Given the description of an element on the screen output the (x, y) to click on. 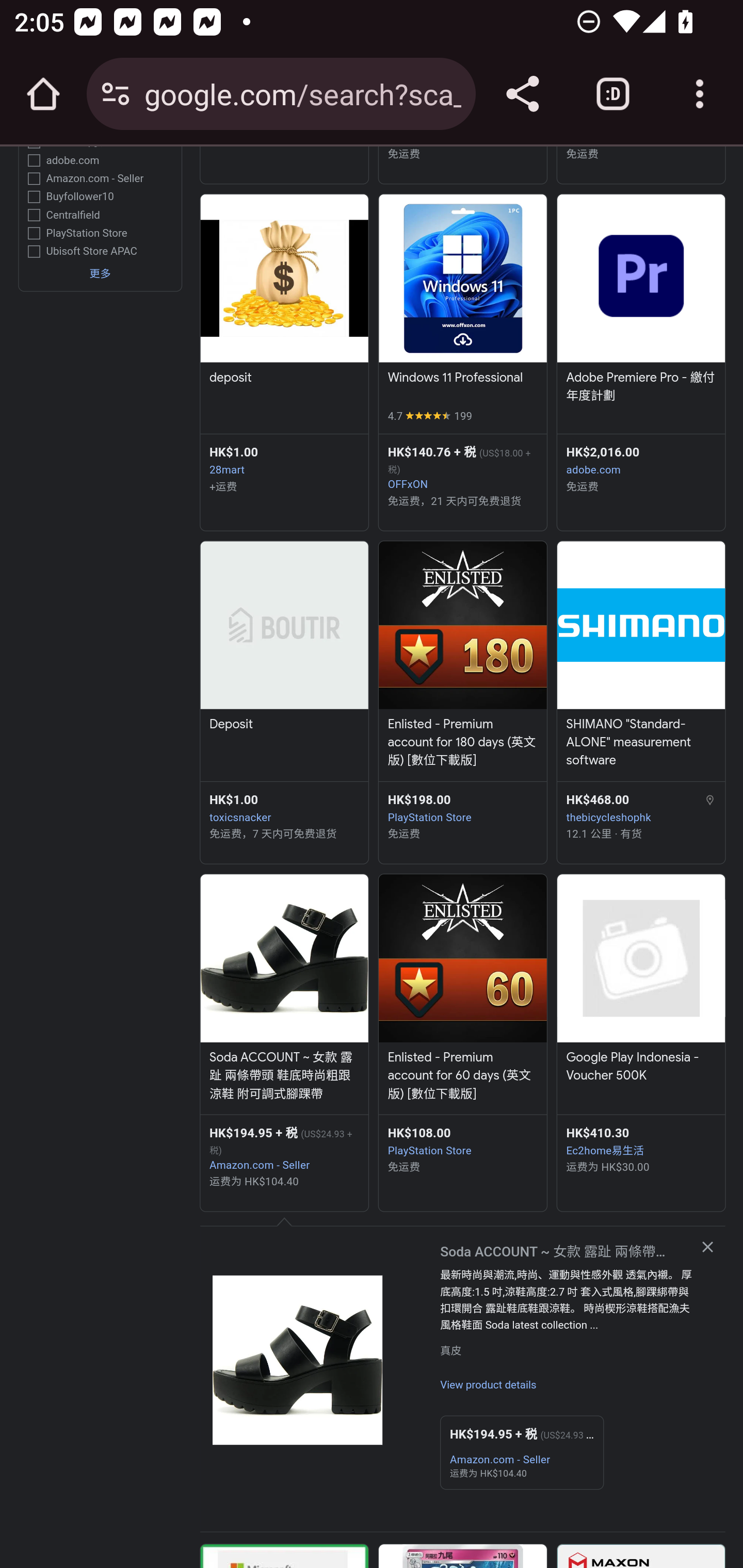
Open the home page (43, 93)
Connection is secure (115, 93)
Share (522, 93)
Switch or close tabs (612, 93)
Customize and control Google Chrome (699, 93)
deposit (283, 378)
Adobe Premiere Pro - 繳付年度計劃 (640, 387)
HK$1.00. 28mart HK$1.00. 28mart (283, 460)
HK$2,016.00. adobe.com HK$2,016.00. adobe.com (640, 460)
+运费 . 在新窗口中访问28mart的网站 +运费 . 在新窗口中访问28mart的网站 (283, 486)
Deposit (283, 725)
HK$1.00. toxicsnacker HK$1.00. toxicsnacker (283, 808)
Soda ACCOUNT ~ 女款 露趾 兩條帶頭 鞋底時尚粗跟涼鞋 附可調式腳踝帶 (283, 1076)
Google Play Indonesia - Voucher 500K (640, 1066)
HK$410.30. Ec2home易生活 HK$410.30. Ec2home易生活 (640, 1141)
Close (707, 1246)
Opens in a new window (297, 1359)
View product details (487, 1385)
